Given the description of an element on the screen output the (x, y) to click on. 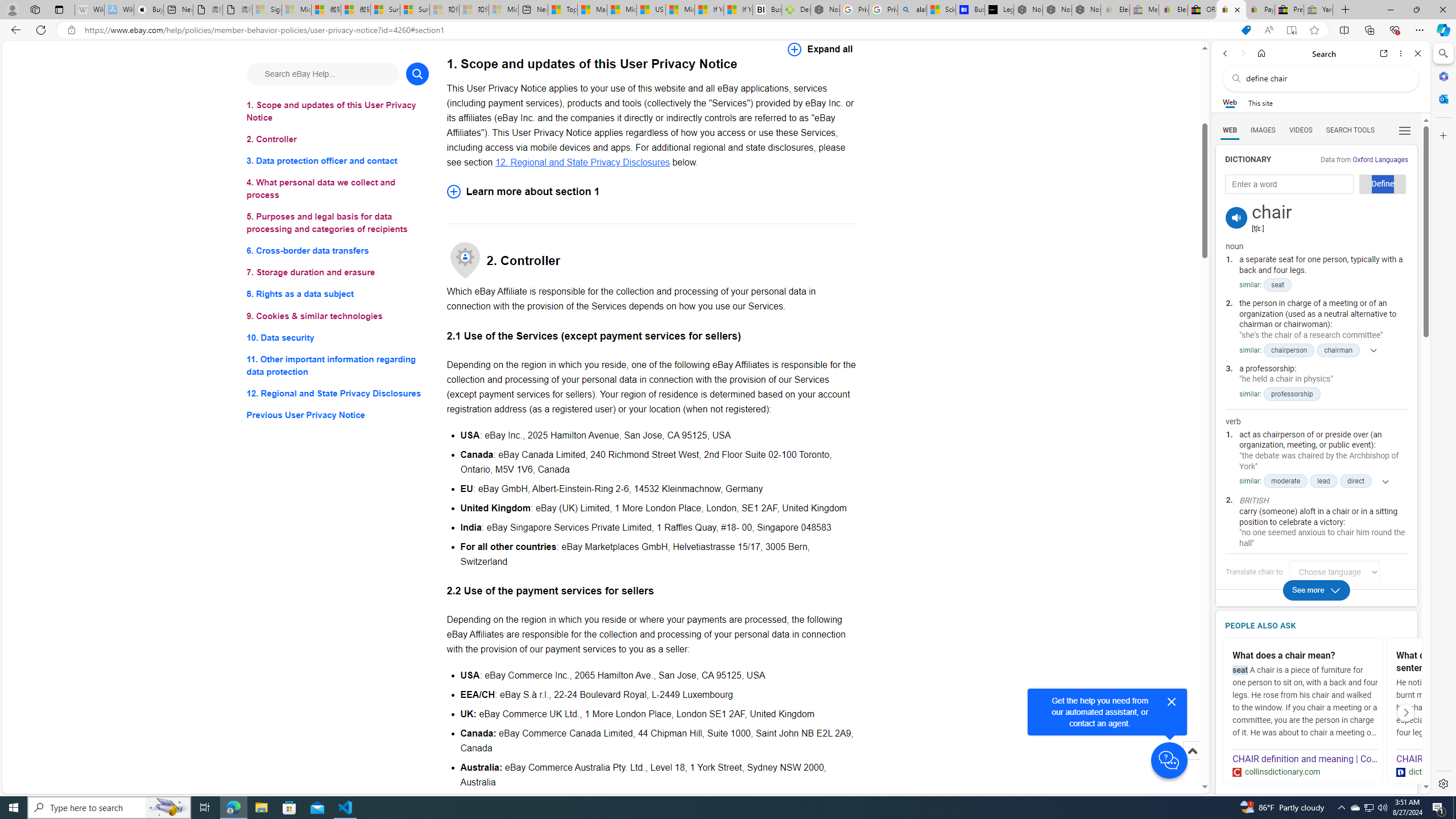
pronounce (1236, 217)
11. Other important information regarding data protection (337, 365)
chairperson (1288, 350)
